Given the description of an element on the screen output the (x, y) to click on. 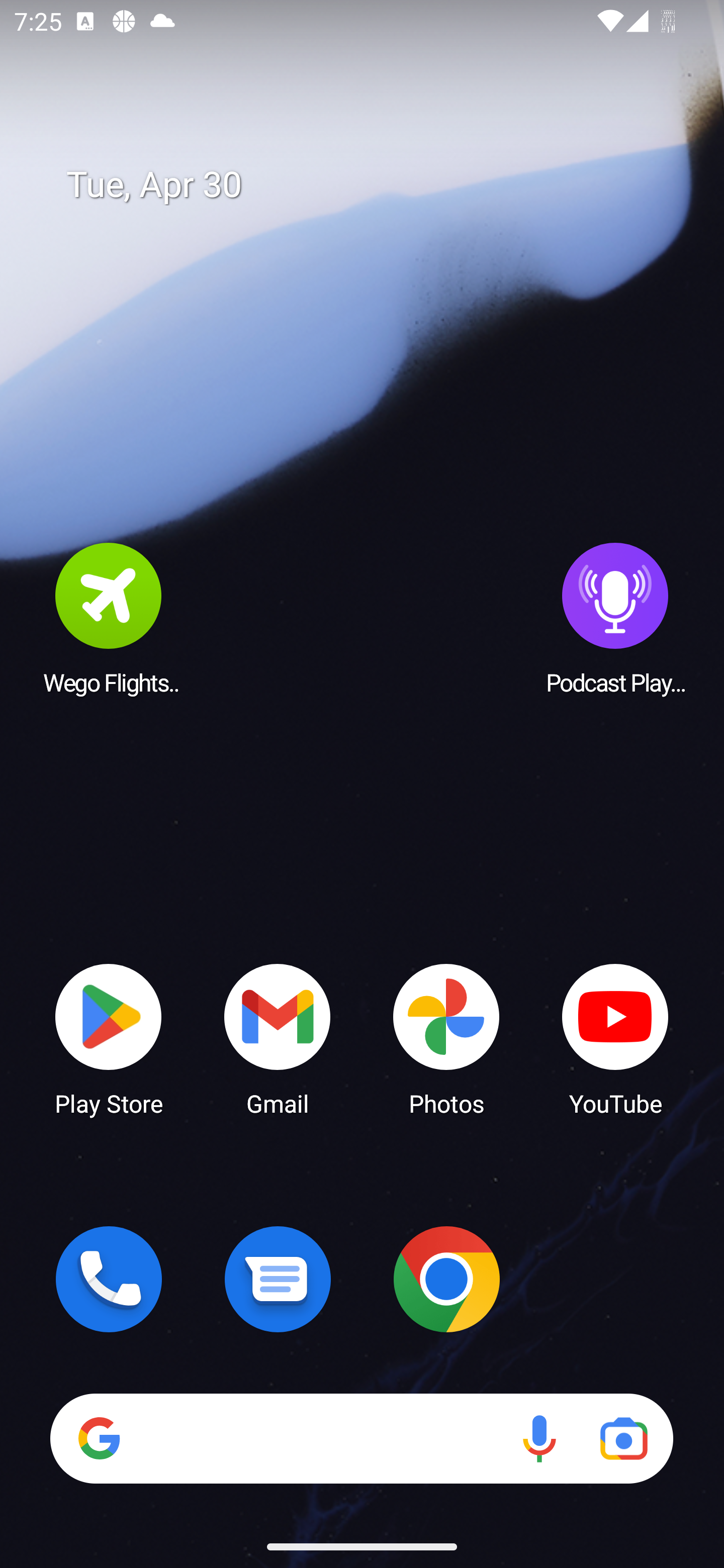
Tue, Apr 30 (375, 184)
Wego Flights & Hotels (108, 617)
Podcast Player (615, 617)
Play Store (108, 1038)
Gmail (277, 1038)
Photos (445, 1038)
YouTube (615, 1038)
Phone (108, 1279)
Messages (277, 1279)
Chrome (446, 1279)
Voice search (539, 1438)
Google Lens (623, 1438)
